Given the description of an element on the screen output the (x, y) to click on. 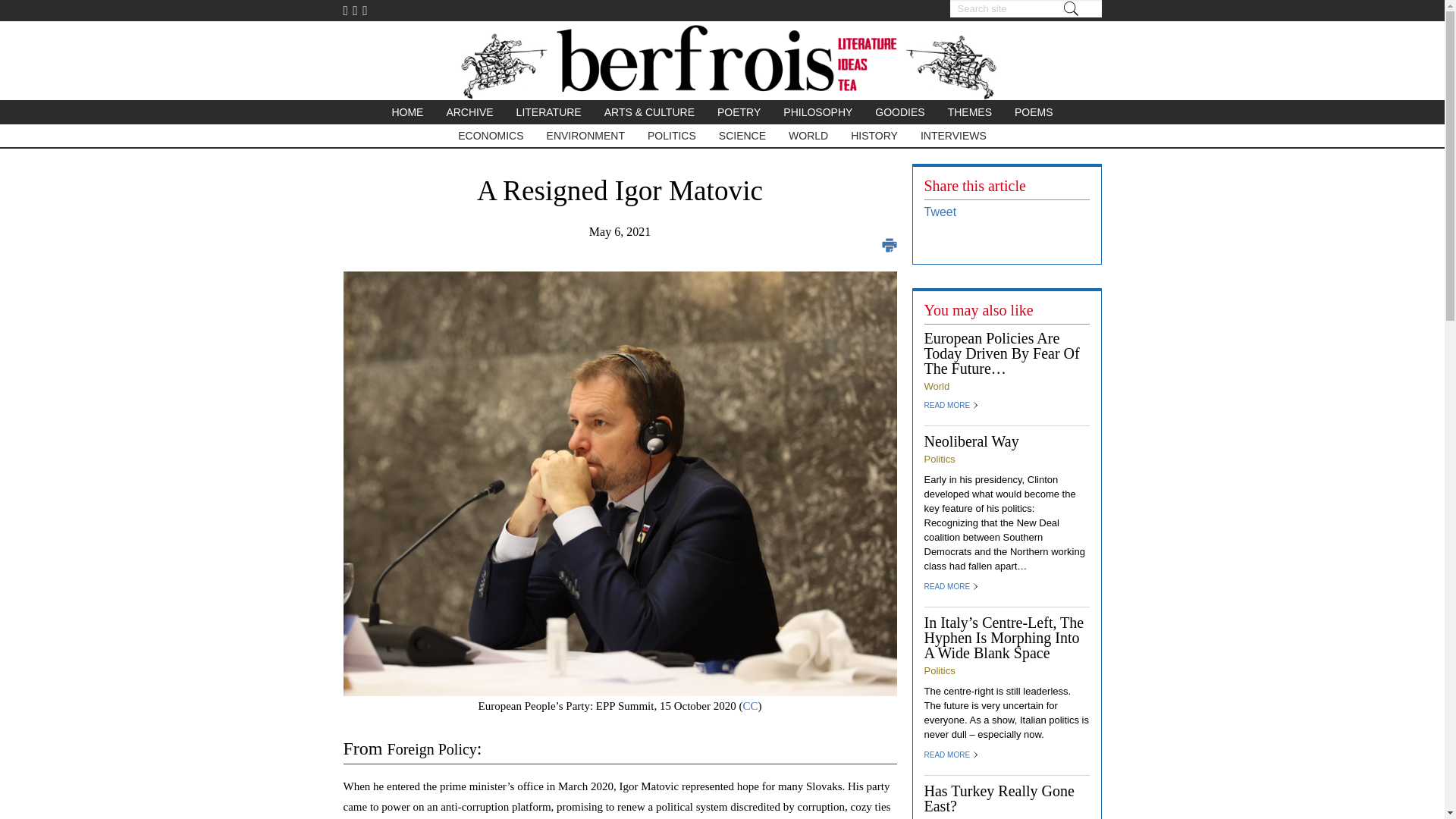
ECONOMICS (490, 135)
POEMS (1033, 111)
Search site (1024, 8)
Foreign Policy (432, 749)
Search site (1024, 8)
LITERATURE (548, 111)
HISTORY (874, 135)
CC (749, 705)
SCIENCE (742, 135)
ENVIRONMENT (585, 135)
ARCHIVE (468, 111)
INTERVIEWS (952, 135)
GOODIES (899, 111)
POETRY (738, 111)
PHILOSOPHY (817, 111)
